Given the description of an element on the screen output the (x, y) to click on. 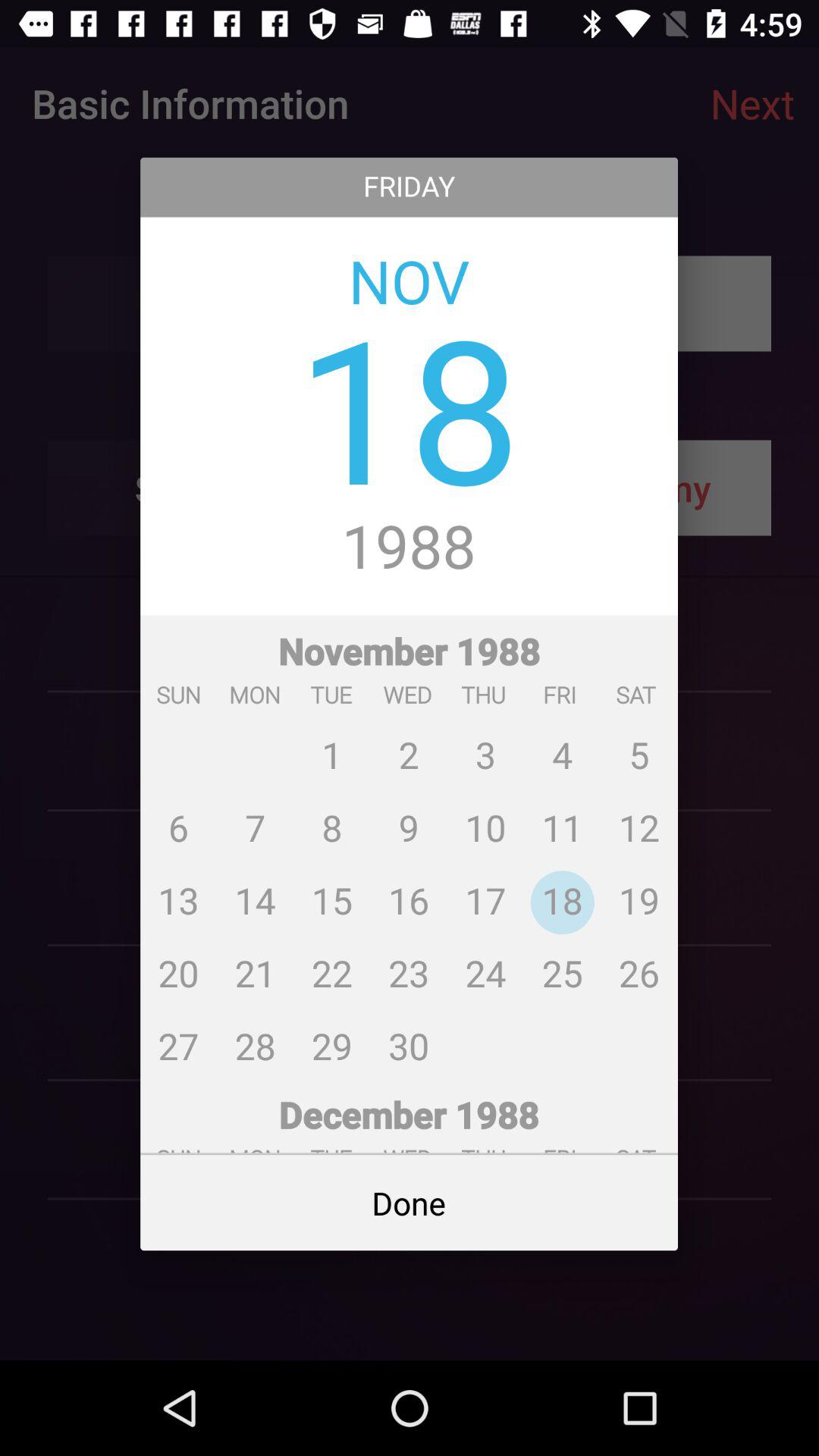
choose the icon below 1988 icon (408, 846)
